Given the description of an element on the screen output the (x, y) to click on. 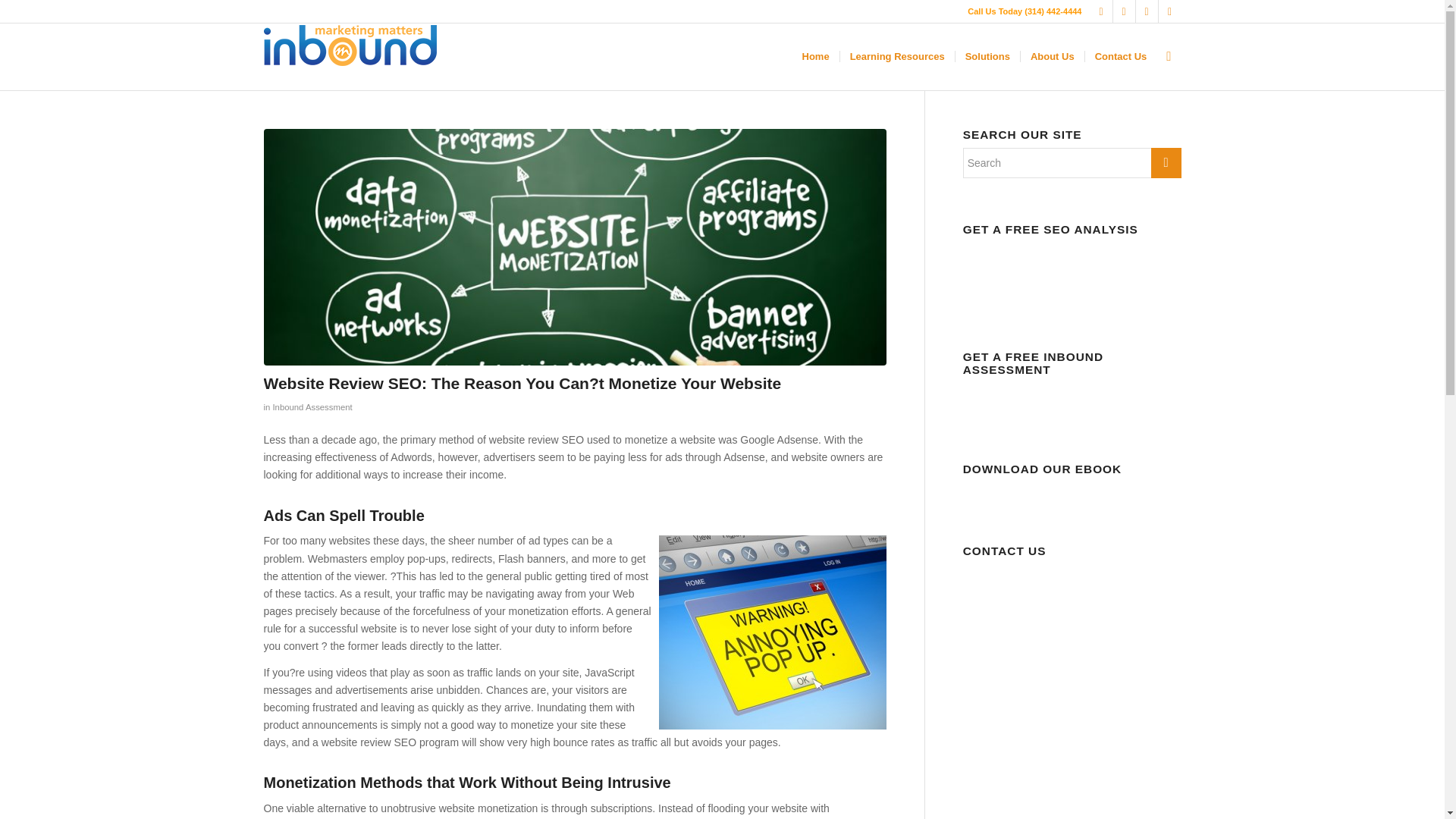
Twitter (1169, 11)
Facebook (1101, 11)
LinkedIn (1124, 11)
marketing-matters-inbound-site-logo (349, 44)
Solutions (987, 56)
Contact Us (1120, 56)
Learning Resources (897, 56)
Inbound Assessment (312, 406)
Youtube (1146, 11)
About Us (1052, 56)
